Given the description of an element on the screen output the (x, y) to click on. 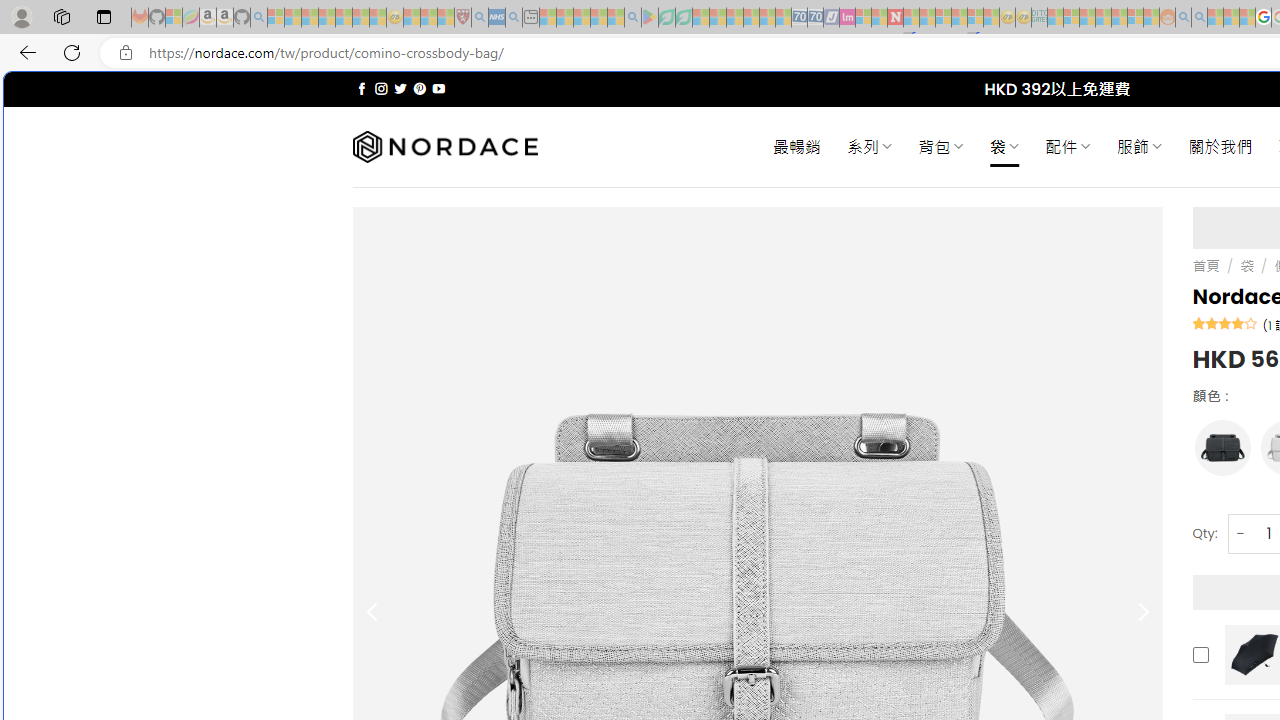
Nordace (444, 147)
The Weather Channel - MSN - Sleeping (309, 17)
New Report Confirms 2023 Was Record Hot | Watch - Sleeping (343, 17)
Workspaces (61, 16)
Personal Profile (21, 16)
Refresh (72, 52)
